Given the description of an element on the screen output the (x, y) to click on. 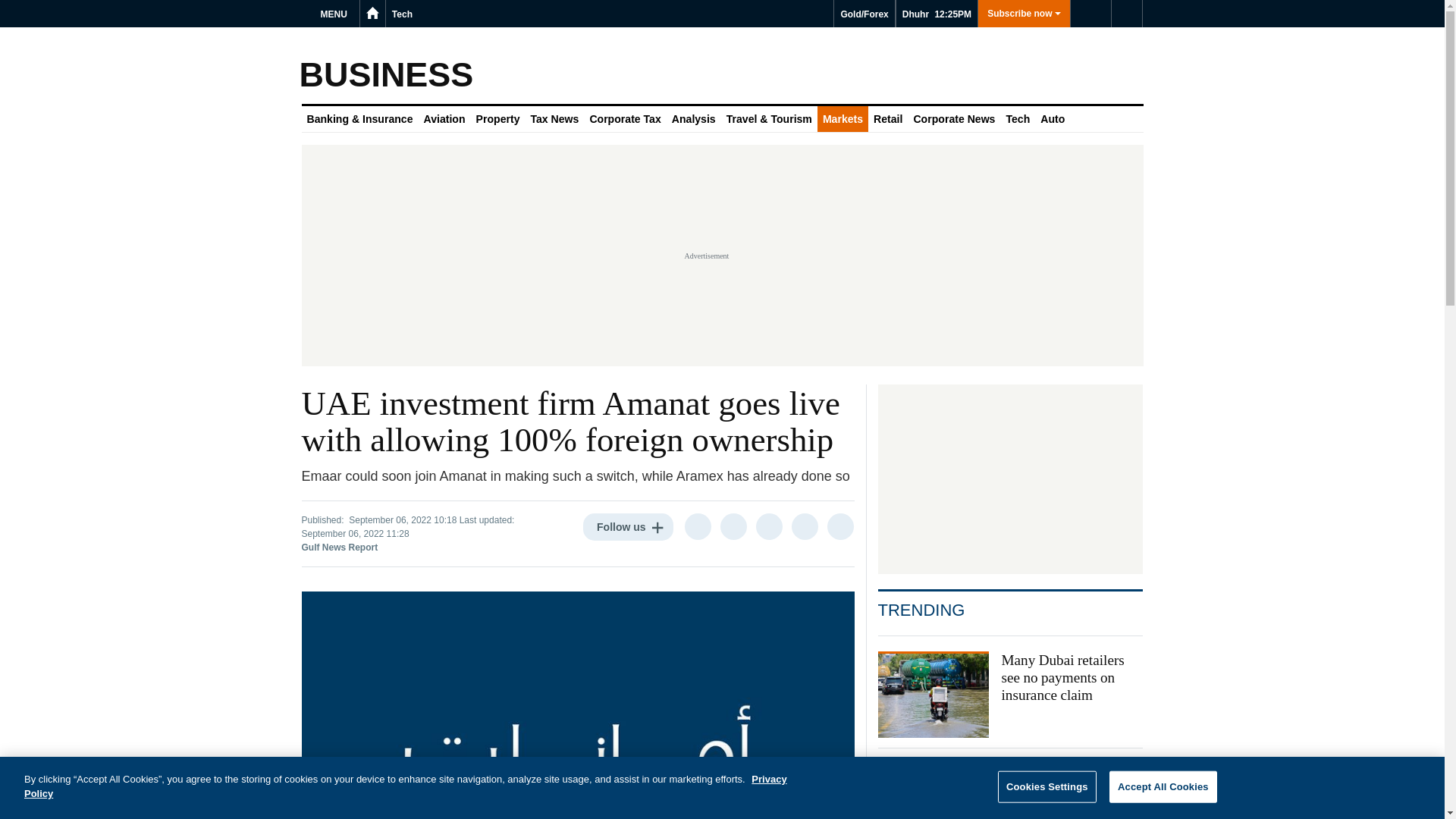
MENU (336, 13)
Tech (402, 13)
Dhuhr 12:25PM (936, 13)
Subscribe now (1024, 13)
